Given the description of an element on the screen output the (x, y) to click on. 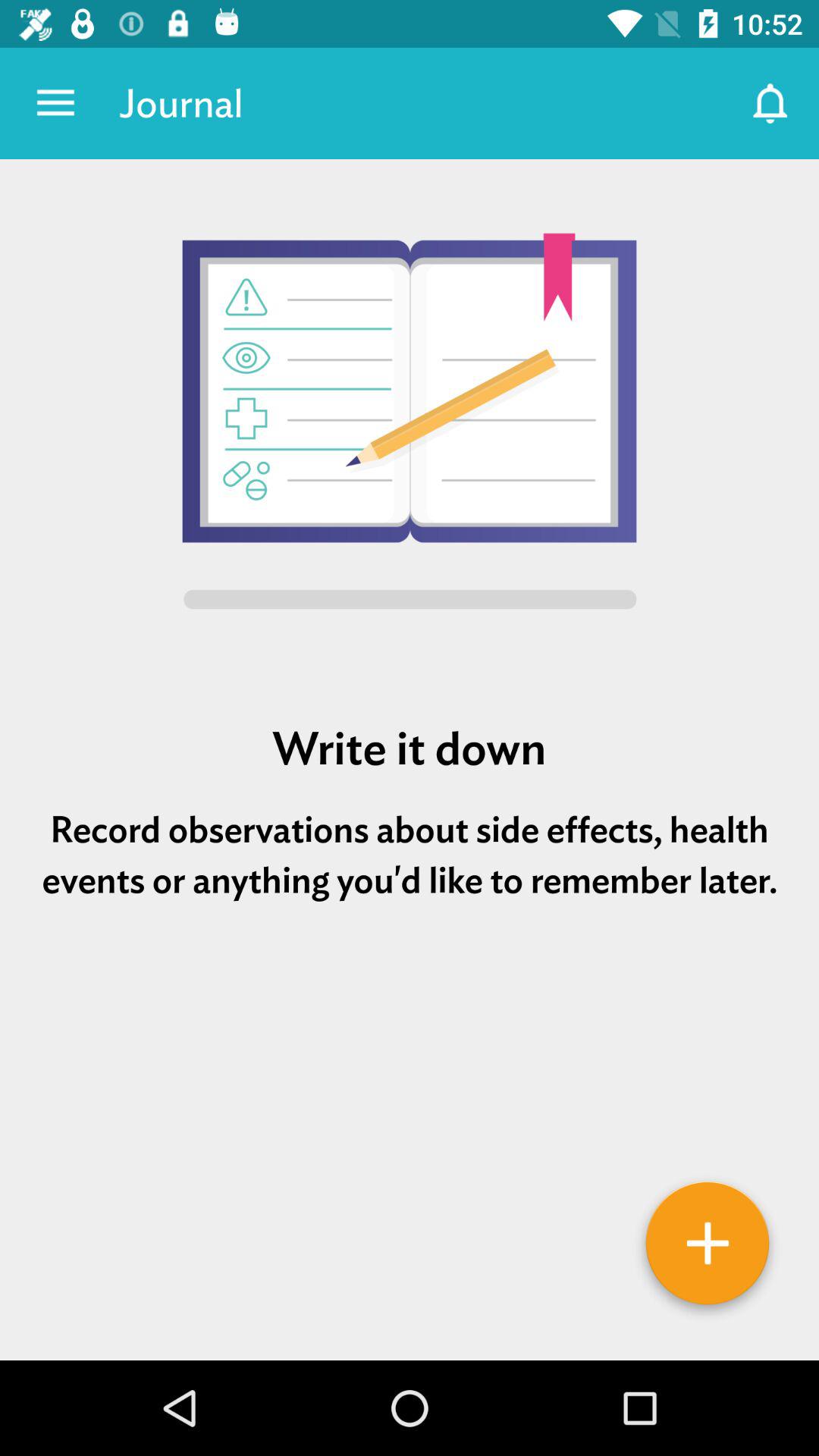
select item below the write it down item (409, 855)
